Given the description of an element on the screen output the (x, y) to click on. 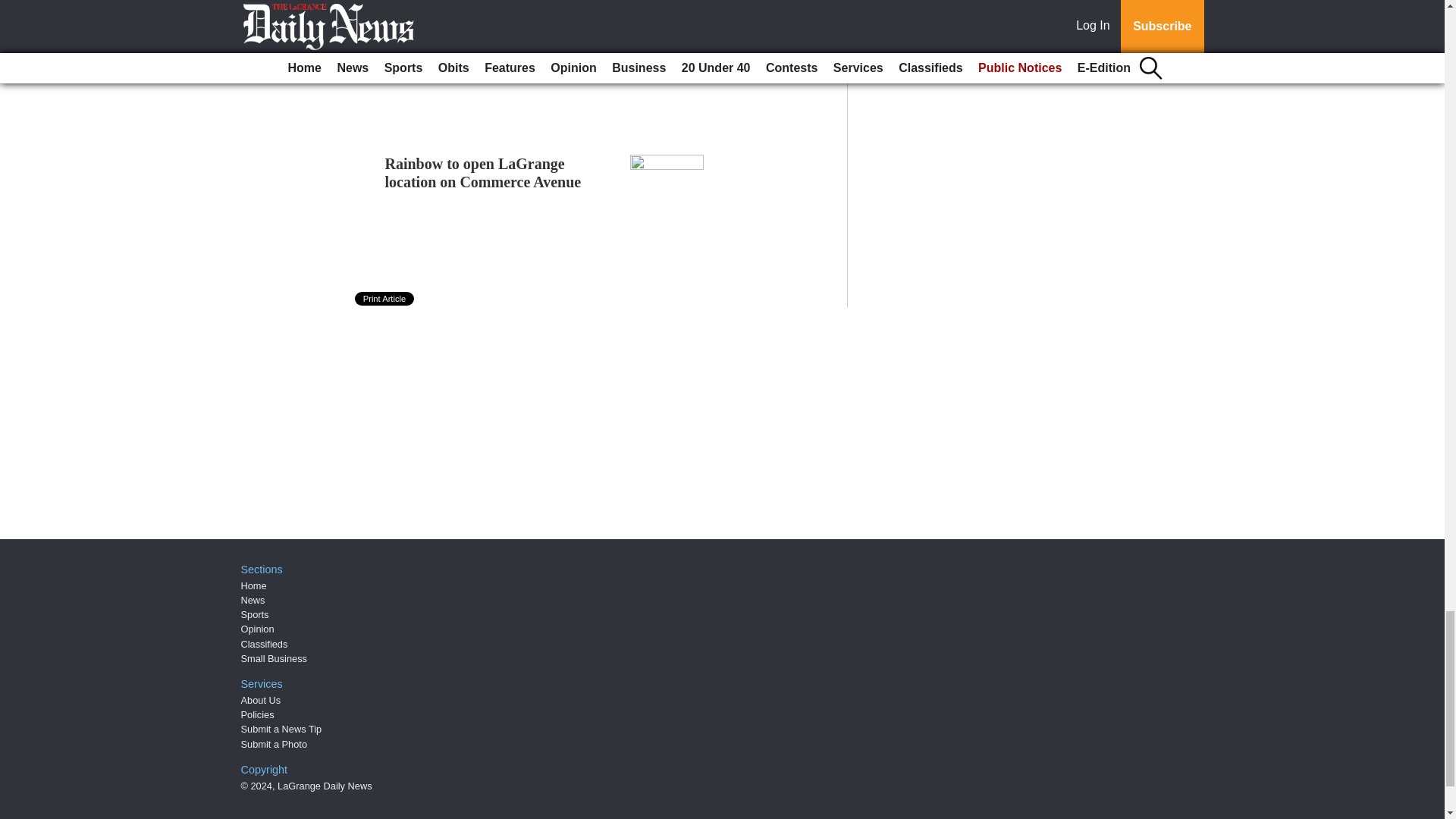
Boutique insurance broker holds ribbon cutting (490, 36)
Boutique insurance broker holds ribbon cutting (490, 36)
Rainbow to open LaGrange location on Commerce Avenue (482, 172)
Print Article (384, 298)
Rainbow to open LaGrange location on Commerce Avenue (482, 172)
